Given the description of an element on the screen output the (x, y) to click on. 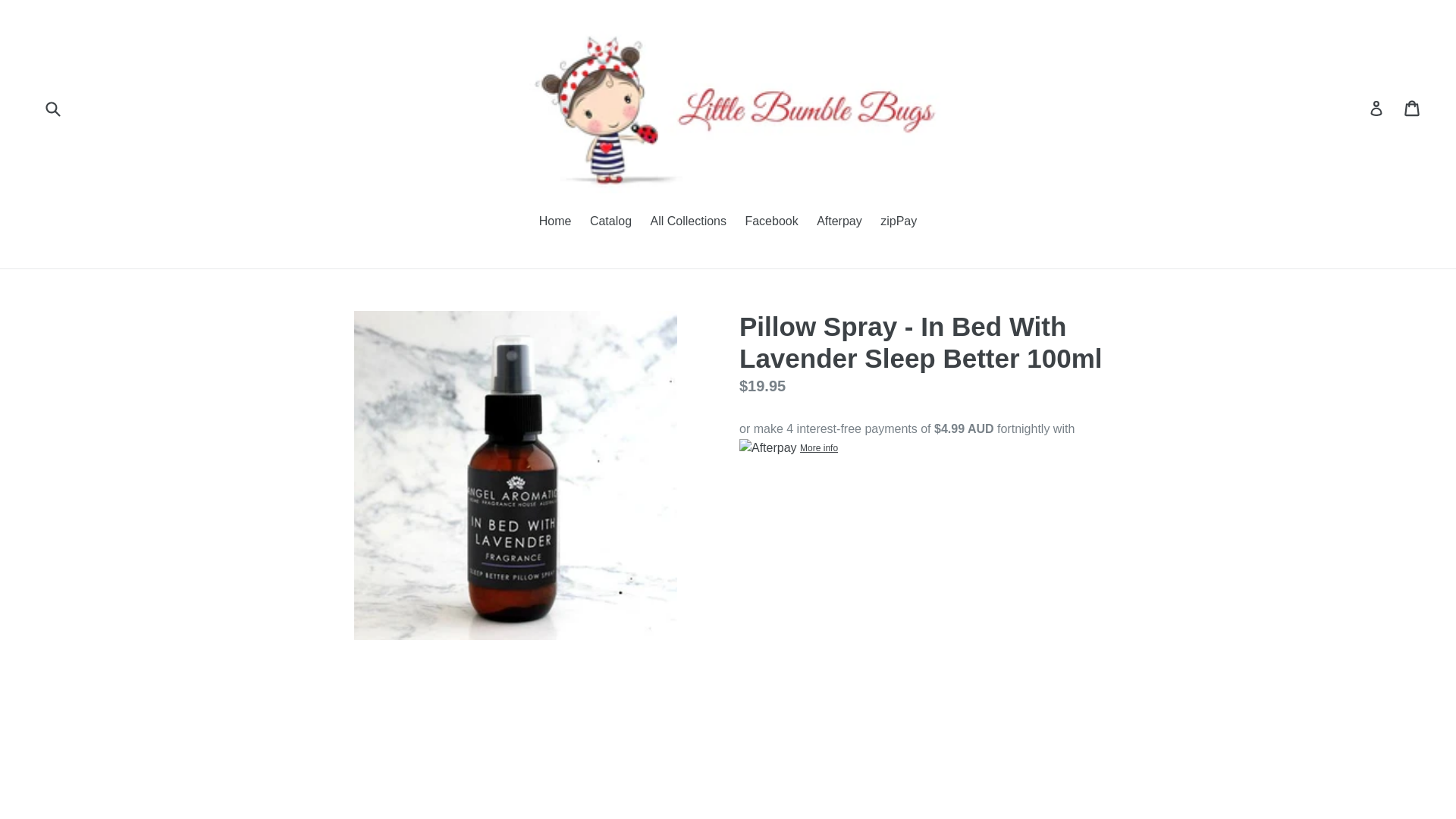
Afterpay (839, 222)
Facebook (770, 222)
zipPay (898, 222)
Home (555, 222)
Catalog (610, 222)
All Collections (688, 222)
More info (788, 447)
